Given the description of an element on the screen output the (x, y) to click on. 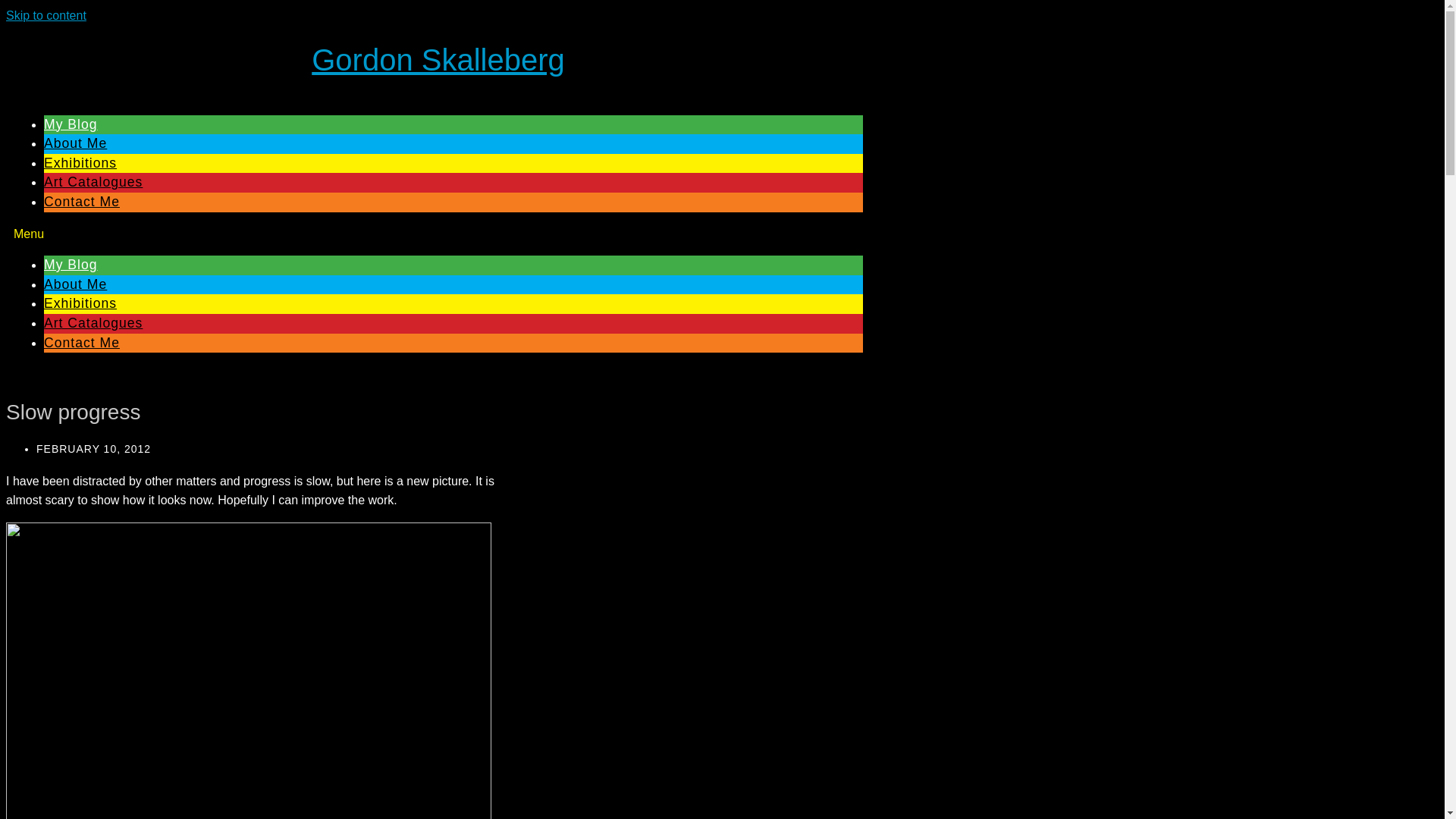
Contact Me (81, 201)
Art Catalogues (92, 322)
Skip to content (45, 15)
Exhibitions (79, 162)
Art Catalogues (92, 181)
Gordon Skalleberg (437, 59)
About Me (74, 142)
My Blog (70, 264)
Exhibitions (79, 303)
